Given the description of an element on the screen output the (x, y) to click on. 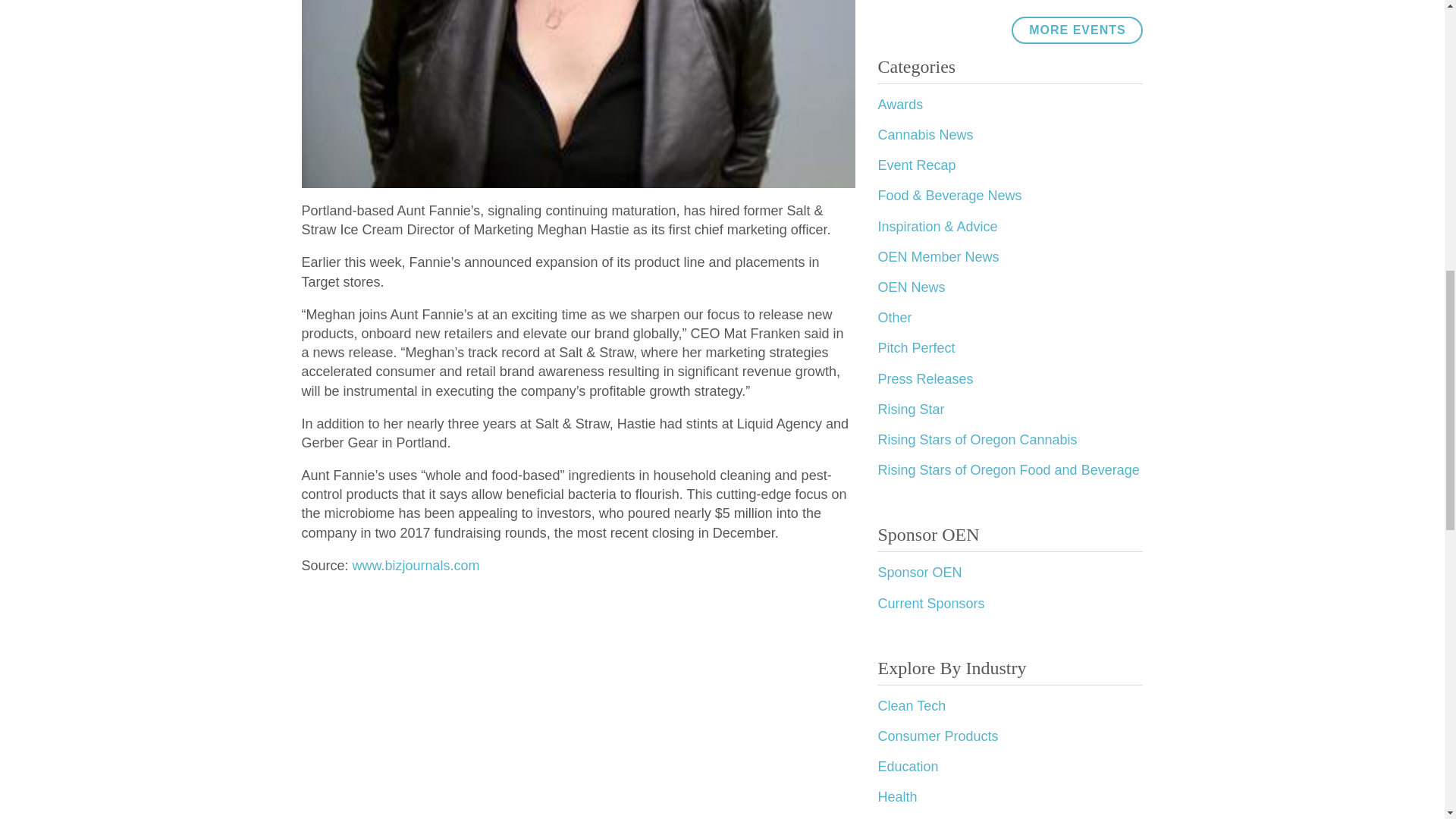
www.bizjournals.com (416, 565)
Cohort 2 (903, 0)
Awards (900, 104)
Event Recap (916, 165)
MORE EVENTS (1076, 30)
Cannabis News (924, 134)
